Given the description of an element on the screen output the (x, y) to click on. 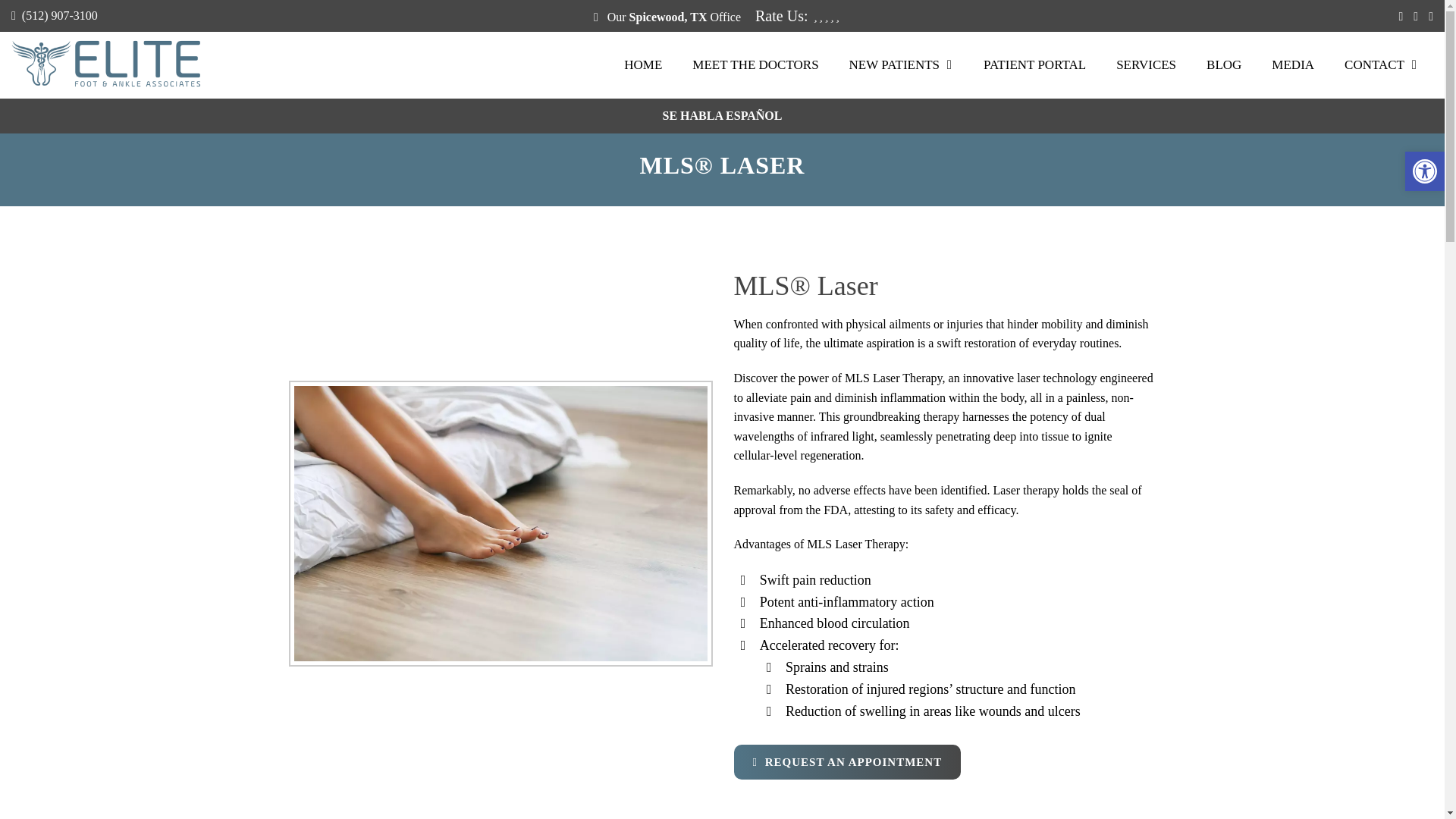
PATIENT PORTAL (1034, 64)
SERVICES (1145, 64)
MEET THE DOCTORS (754, 64)
MEDIA (1292, 64)
NEW PATIENTS (901, 64)
BLOG (1223, 64)
Accessibility Tools (1424, 170)
Our Spicewood, TX Office (672, 16)
HOME (642, 64)
REQUEST AN APPOINTMENT (809, 761)
CONTACT (1380, 64)
